Given the description of an element on the screen output the (x, y) to click on. 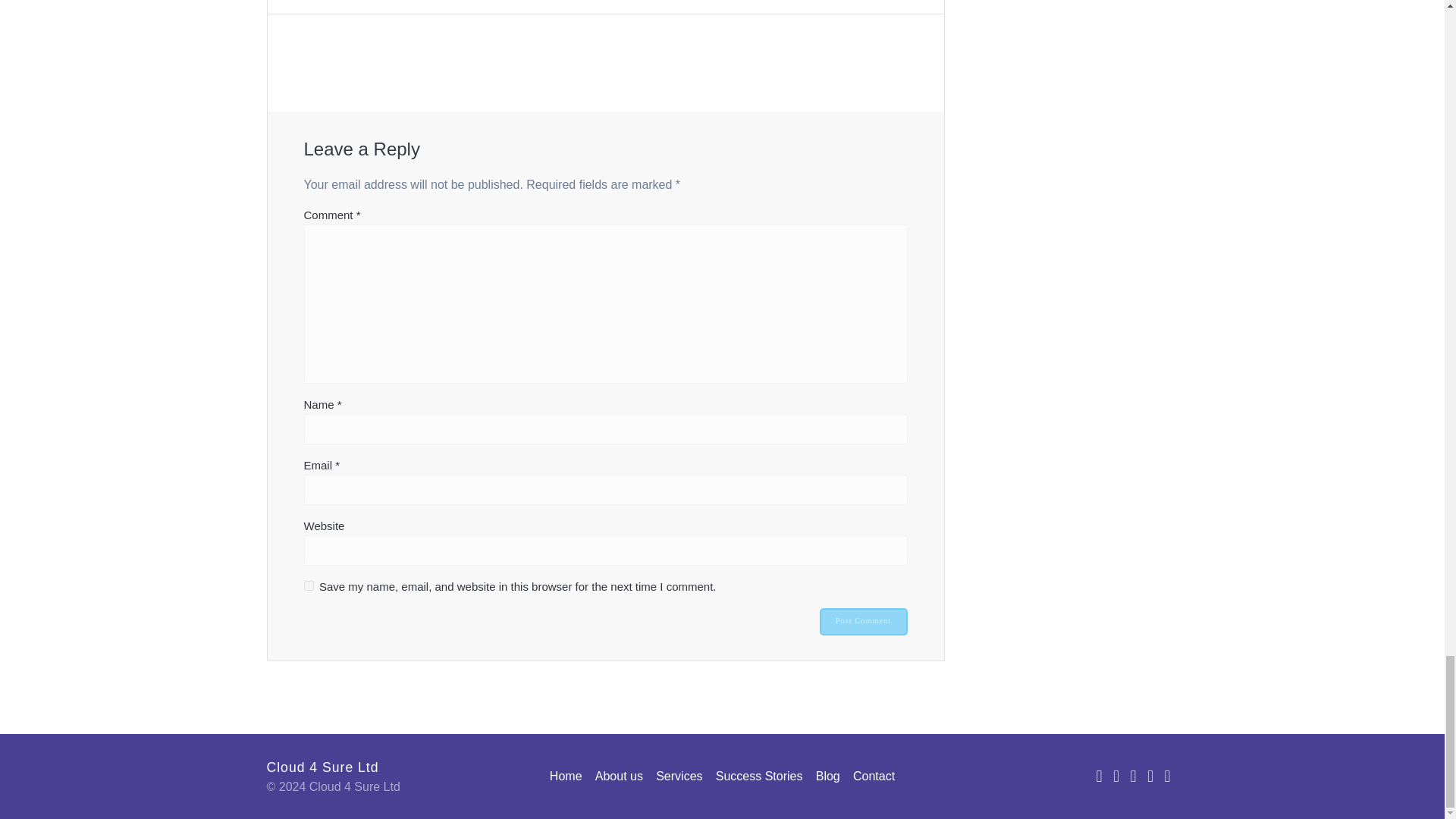
Post Comment (863, 621)
Post Comment (863, 621)
yes (307, 585)
